Given the description of an element on the screen output the (x, y) to click on. 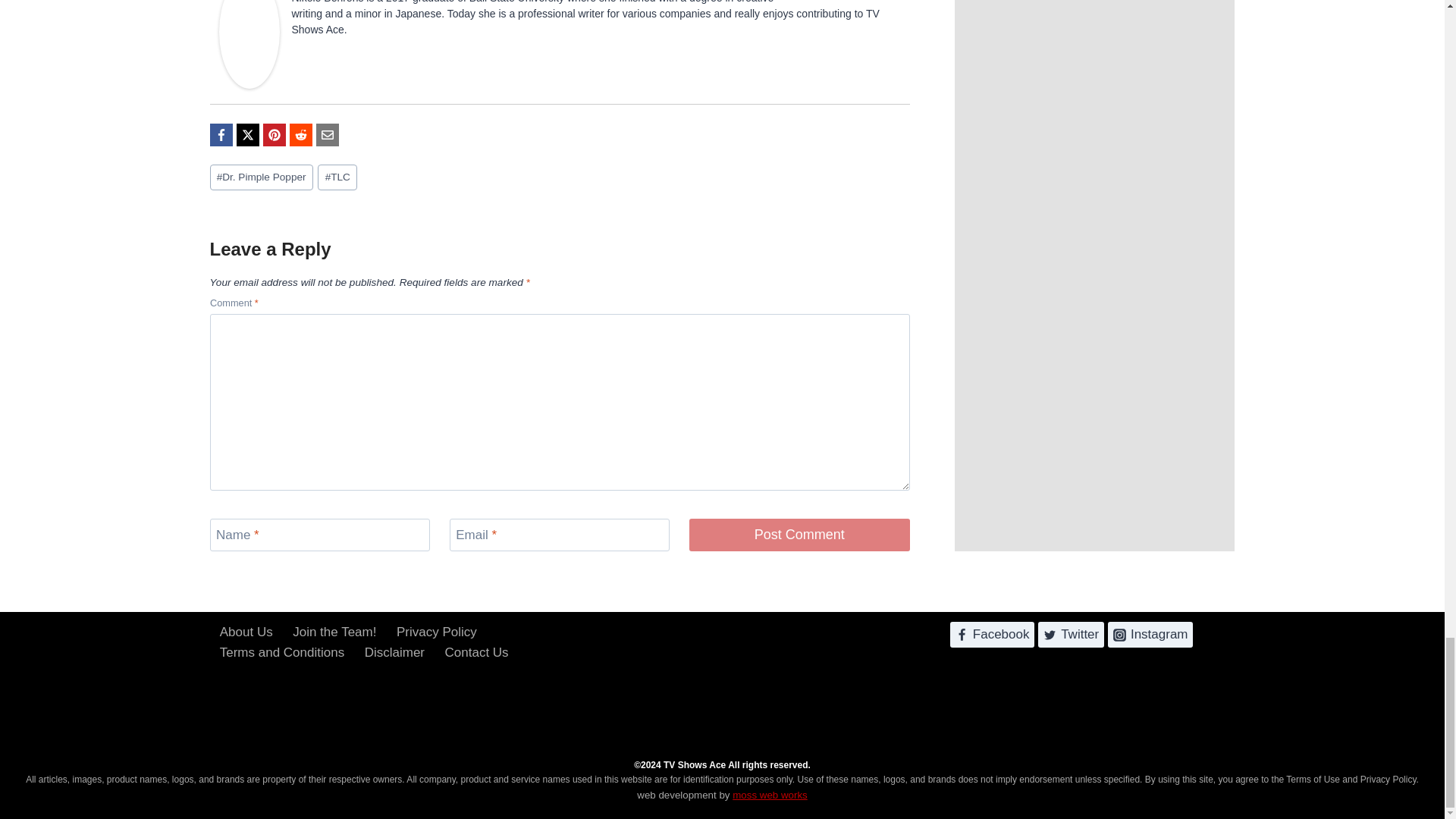
TLC (336, 177)
Twitter (890, 2)
Post Comment (799, 534)
Dr. Pimple Popper (261, 177)
Post Comment (799, 534)
